Given the description of an element on the screen output the (x, y) to click on. 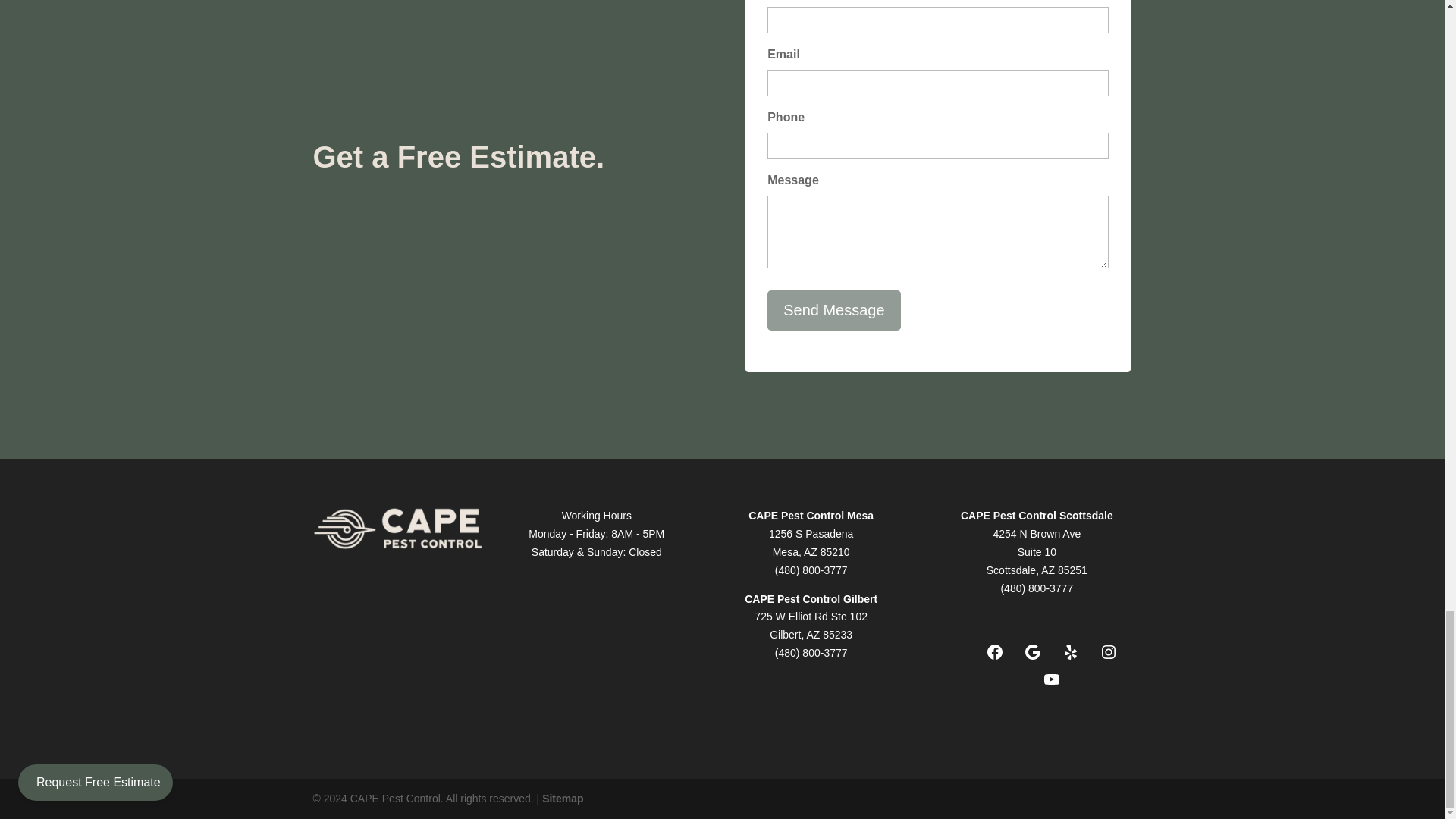
Send Message (833, 310)
